Given the description of an element on the screen output the (x, y) to click on. 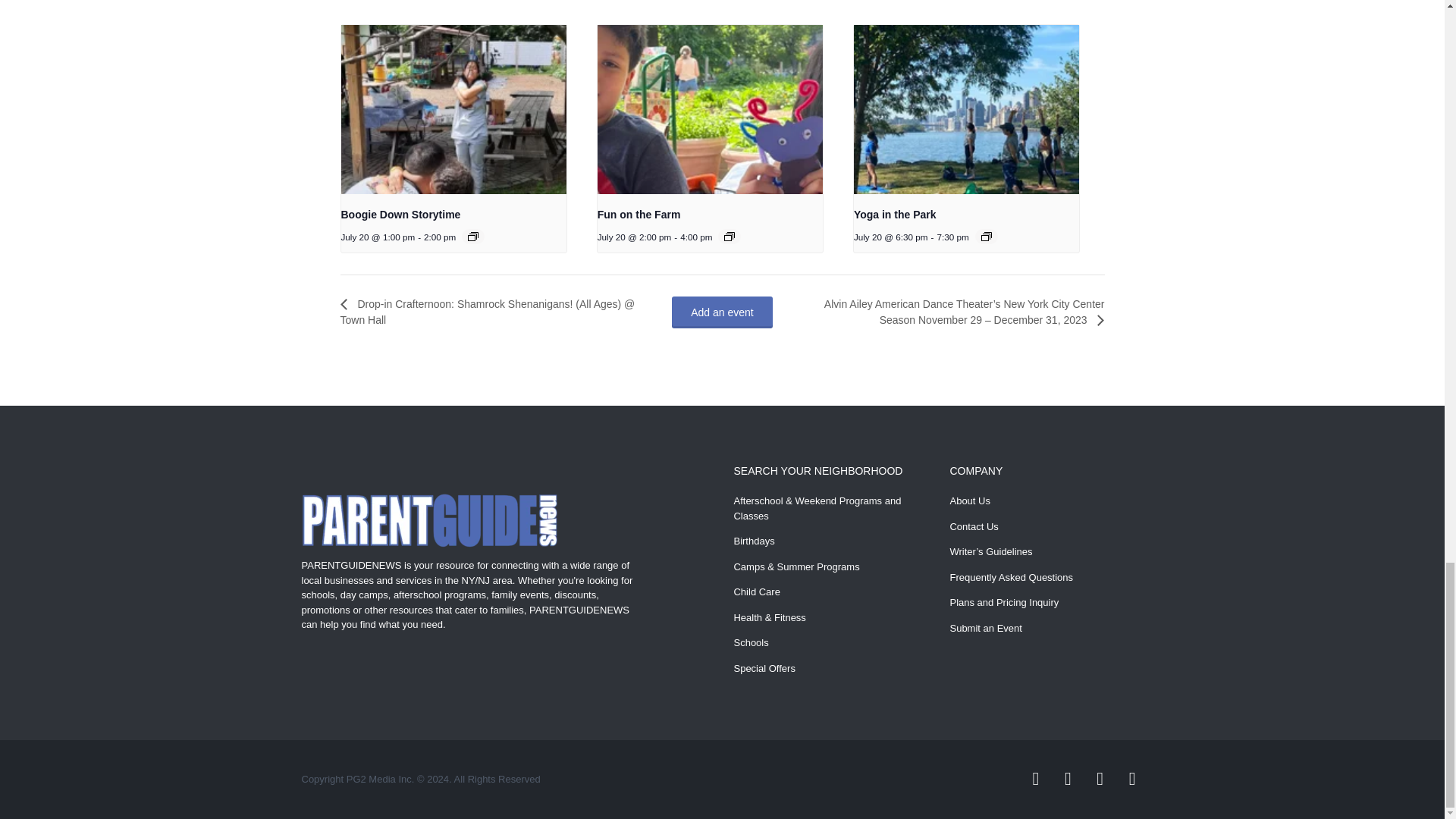
Event Series (986, 235)
Event Series (729, 235)
Event Series (473, 235)
